Given the description of an element on the screen output the (x, y) to click on. 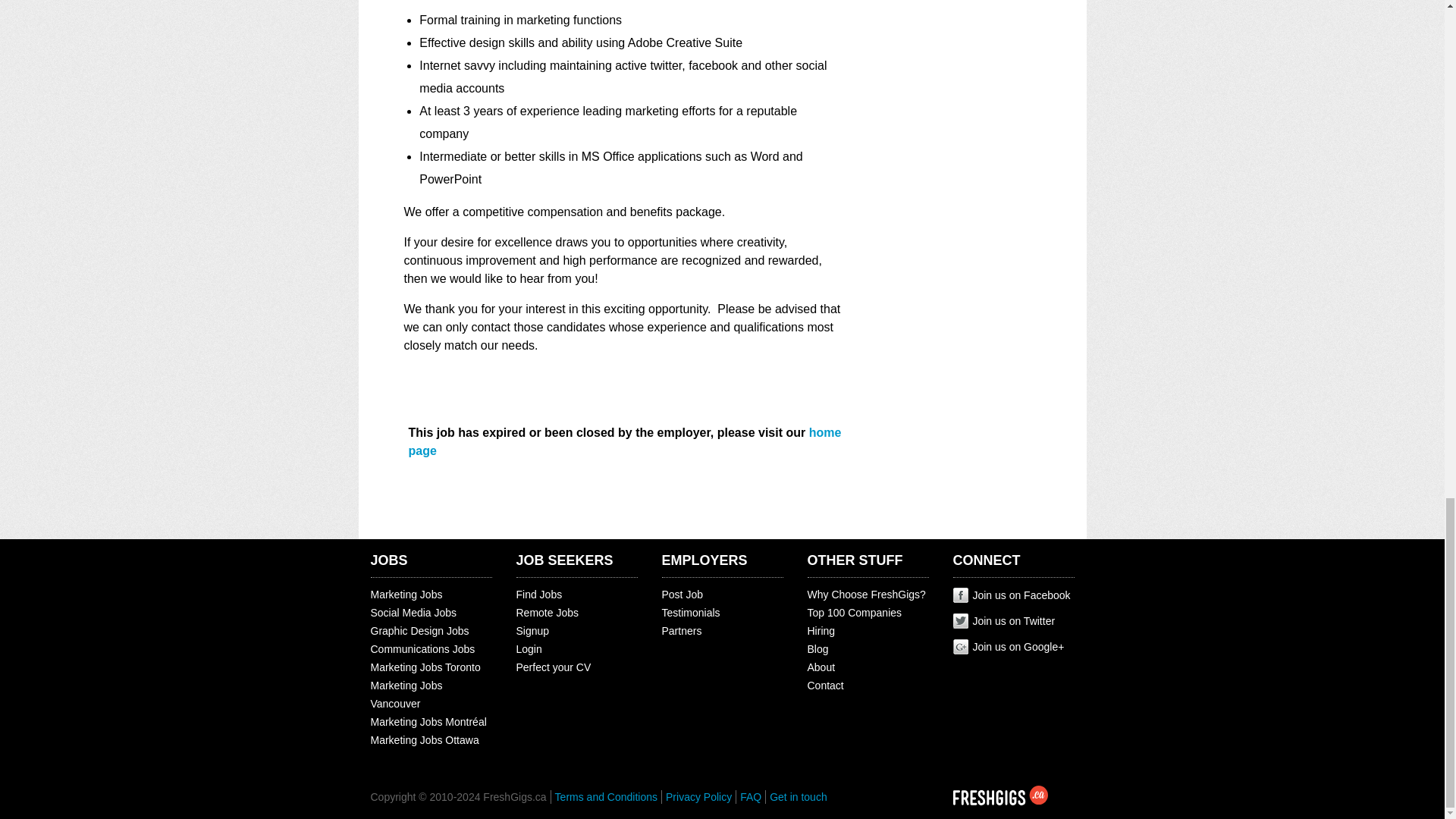
Communications Jobs (421, 648)
Marketing Jobs Toronto (424, 666)
Signup (531, 630)
home page (624, 441)
JOBS (388, 560)
Remote Jobs (546, 612)
Find Jobs (538, 594)
Social Media Jobs (413, 612)
Graphic Design Jobs (418, 630)
Login (528, 648)
